Given the description of an element on the screen output the (x, y) to click on. 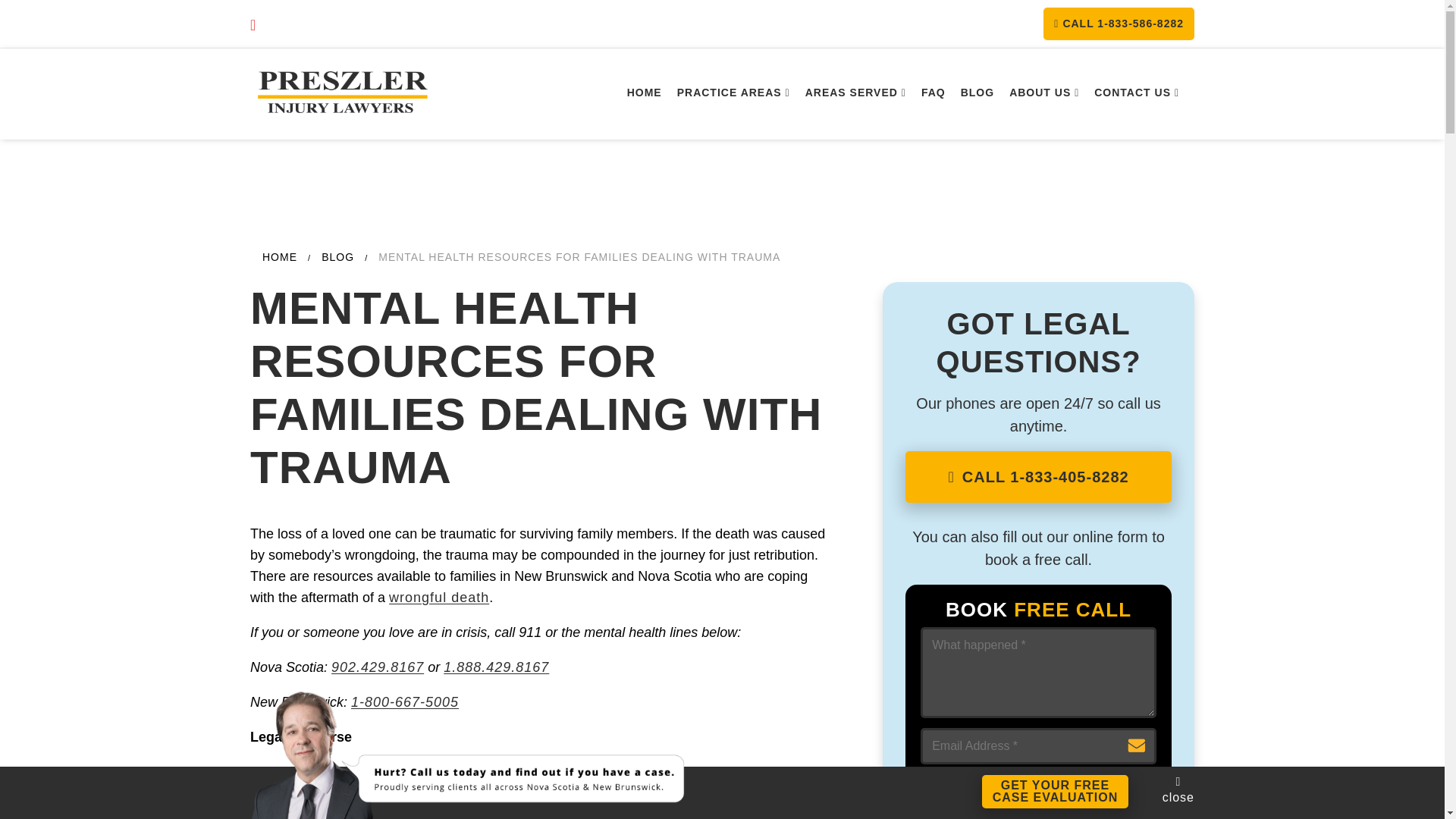
CALL 1-833-586-8282 (1118, 23)
PRACTICE AREAS (733, 92)
ABOUT US (1043, 92)
BLOG (977, 92)
close (1177, 789)
FAQ (933, 92)
CONTACT US (1136, 92)
AREAS SERVED (855, 92)
HOME (1055, 791)
